Given the description of an element on the screen output the (x, y) to click on. 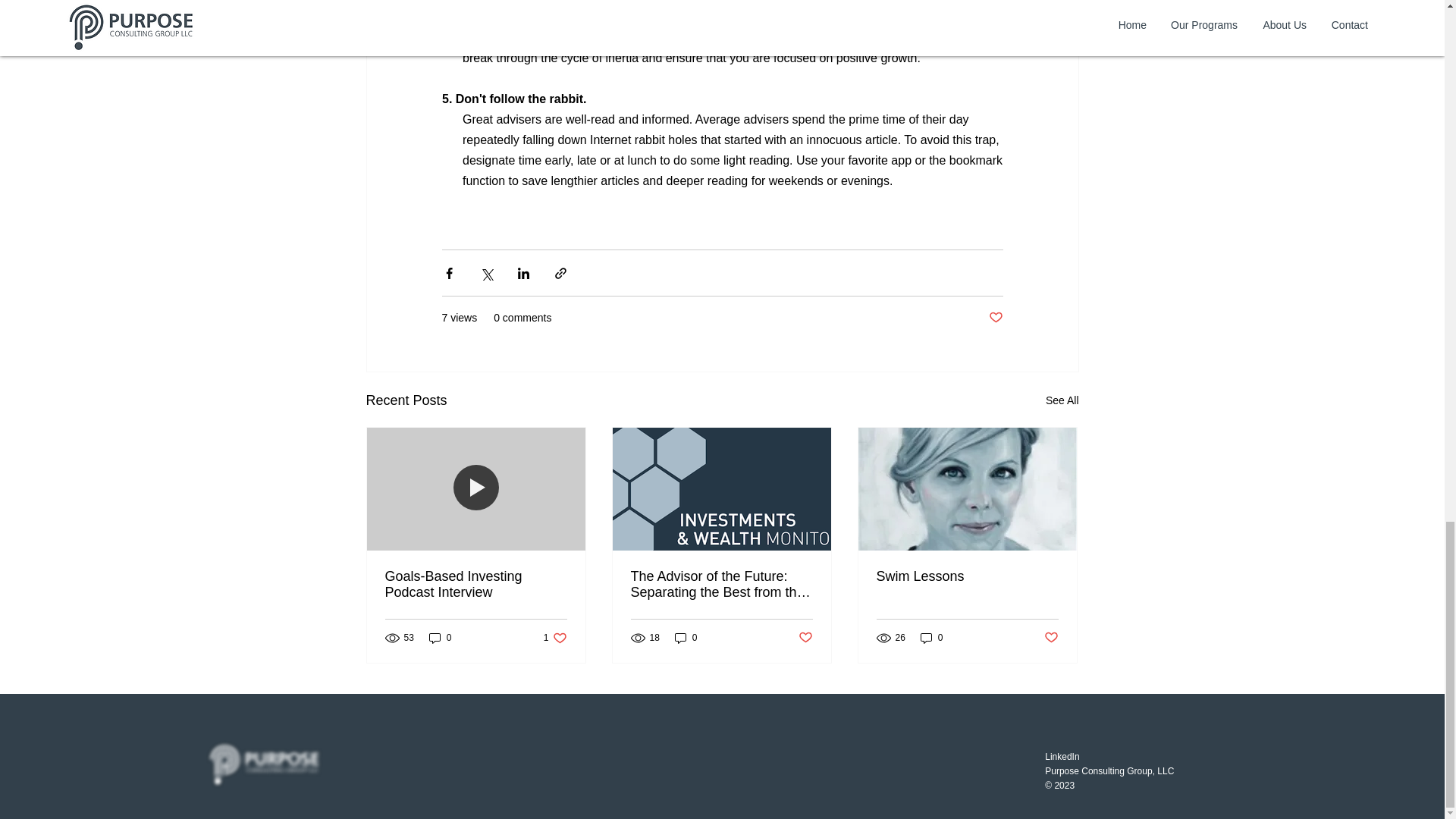
0 (931, 636)
Post not marked as liked (1050, 637)
0 (440, 636)
Goals-Based Investing Podcast Interview (476, 584)
Post not marked as liked (555, 636)
Post not marked as liked (804, 637)
Swim Lessons (995, 317)
See All (967, 576)
0 (1061, 400)
